Given the description of an element on the screen output the (x, y) to click on. 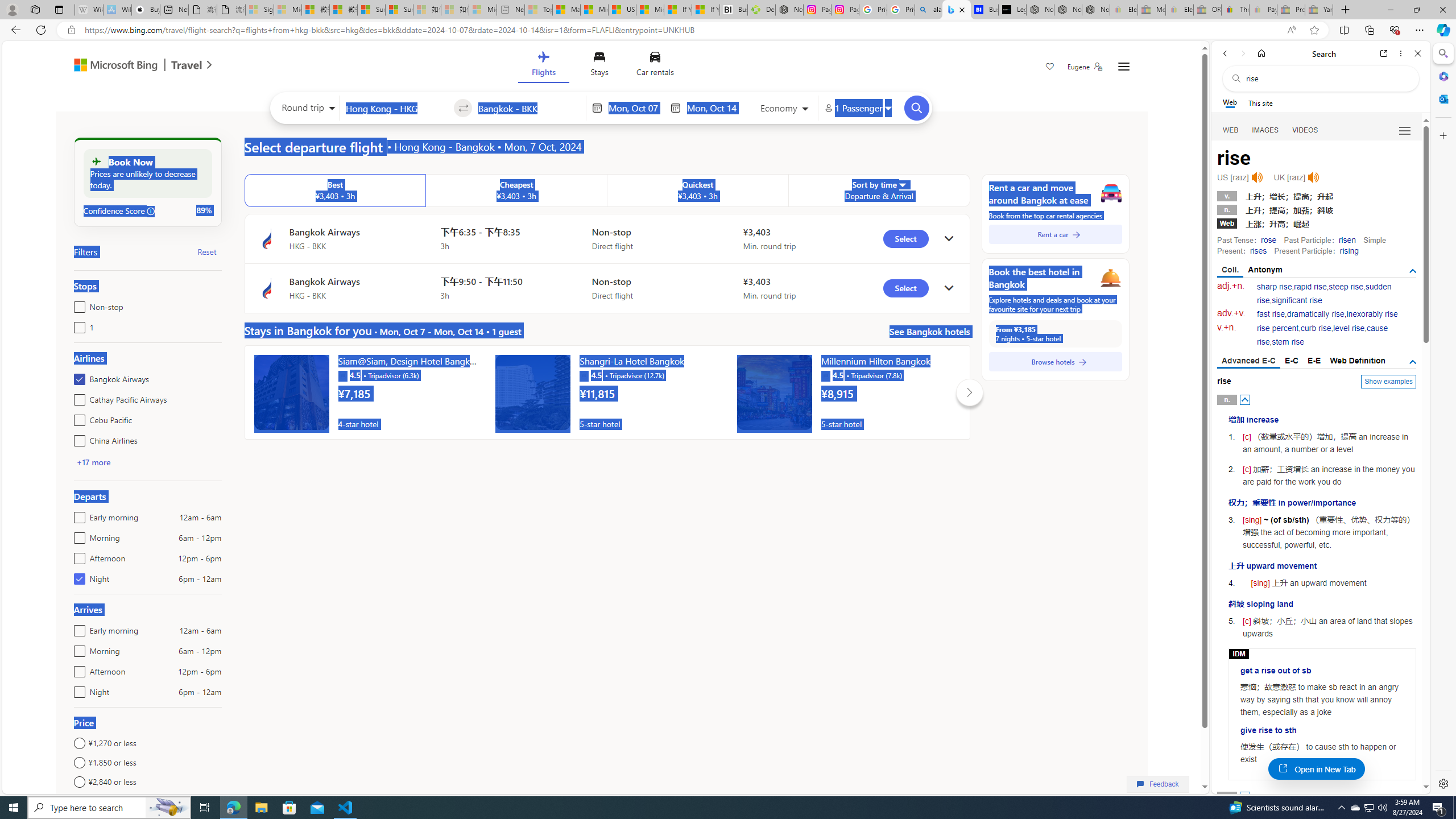
Forward (1242, 53)
Yard, Garden & Outdoor Living - Sleeping (1319, 9)
Sort by time Sorter Departure & Arrival (879, 190)
inexorably rise (1371, 313)
Sign in to your Microsoft account - Sleeping (259, 9)
Descarga Driver Updater (761, 9)
Cathay Pacific Airways (76, 397)
Buy iPad - Apple (145, 9)
Class: msft-travel-logo (186, 64)
AutomationID: tgdef (1412, 362)
